Given the description of an element on the screen output the (x, y) to click on. 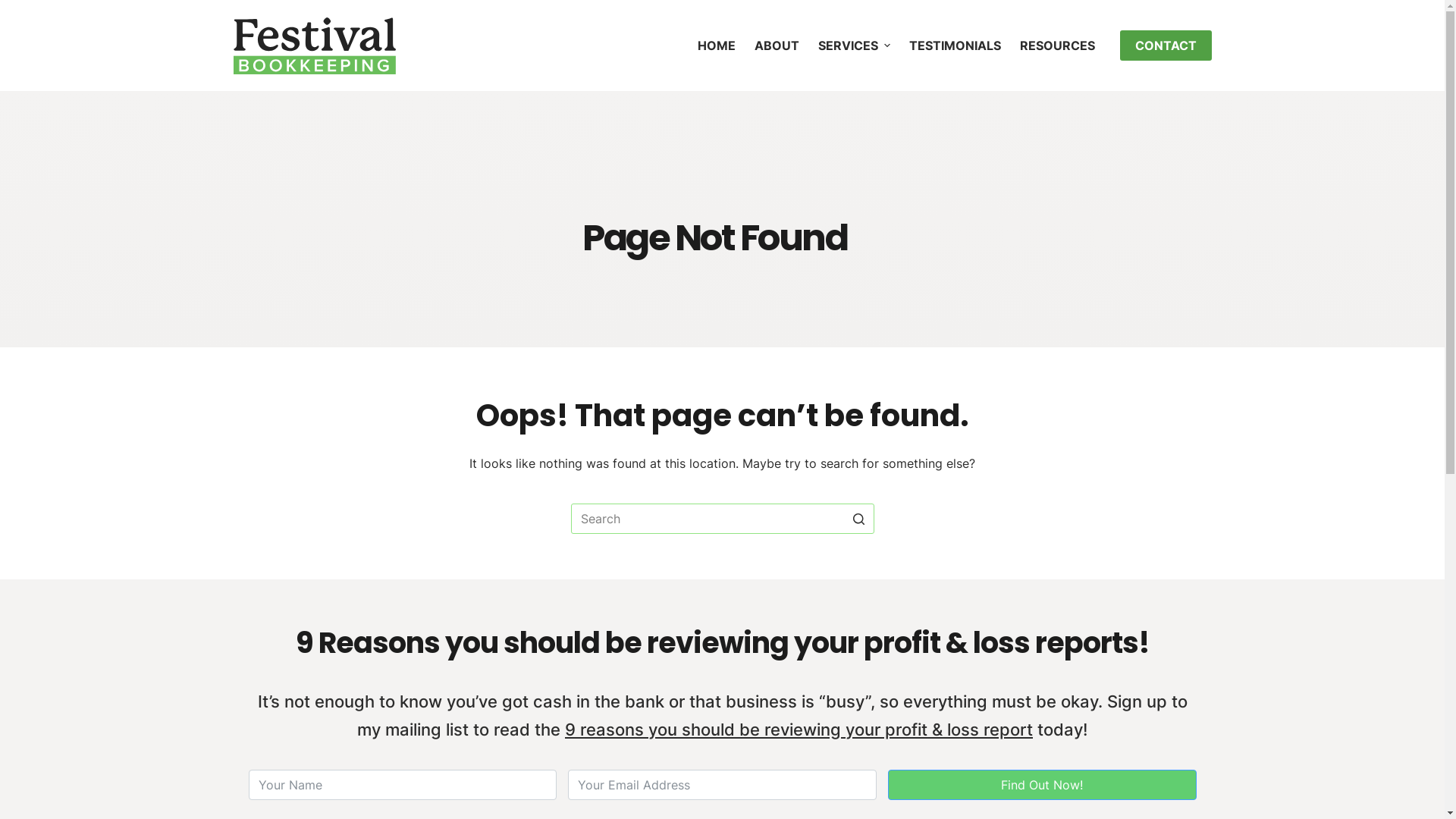
CONTACT Element type: text (1165, 45)
RESOURCES Element type: text (1057, 45)
Skip to content Element type: text (15, 7)
SERVICES Element type: text (853, 45)
HOME Element type: text (715, 45)
ABOUT Element type: text (776, 45)
Search for... Element type: hover (721, 518)
Find Out Now! Element type: text (1042, 784)
TESTIMONIALS Element type: text (954, 45)
